Given the description of an element on the screen output the (x, y) to click on. 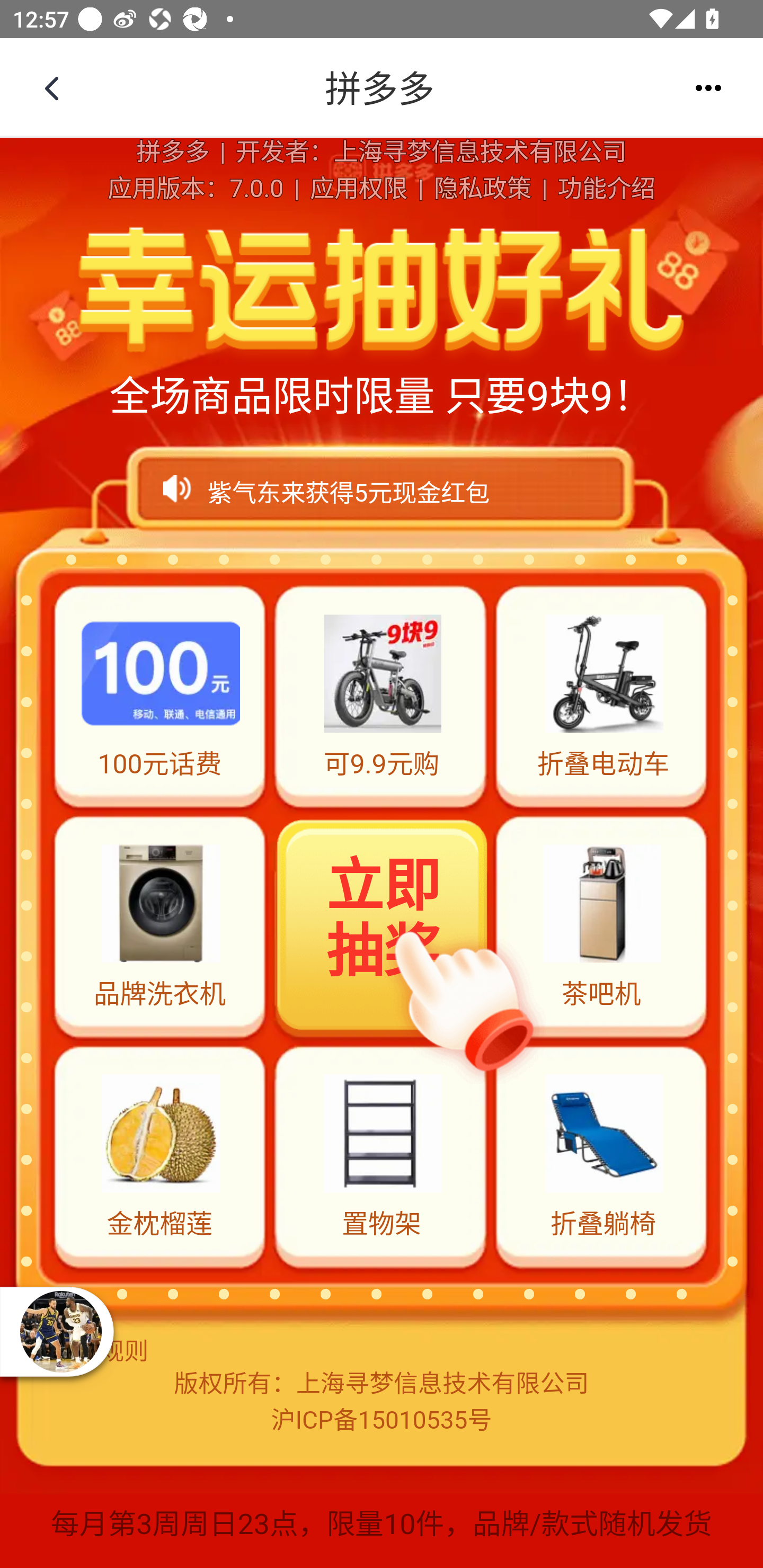
更多 (708, 87)
立即抽奖 (382, 924)
播放器 (60, 1331)
